Given the description of an element on the screen output the (x, y) to click on. 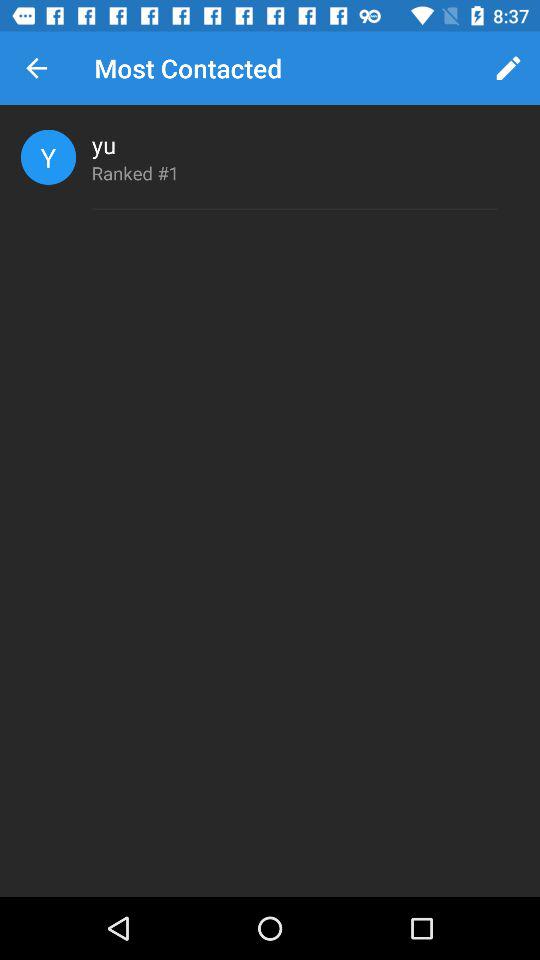
open icon next to the most contacted (36, 68)
